Given the description of an element on the screen output the (x, y) to click on. 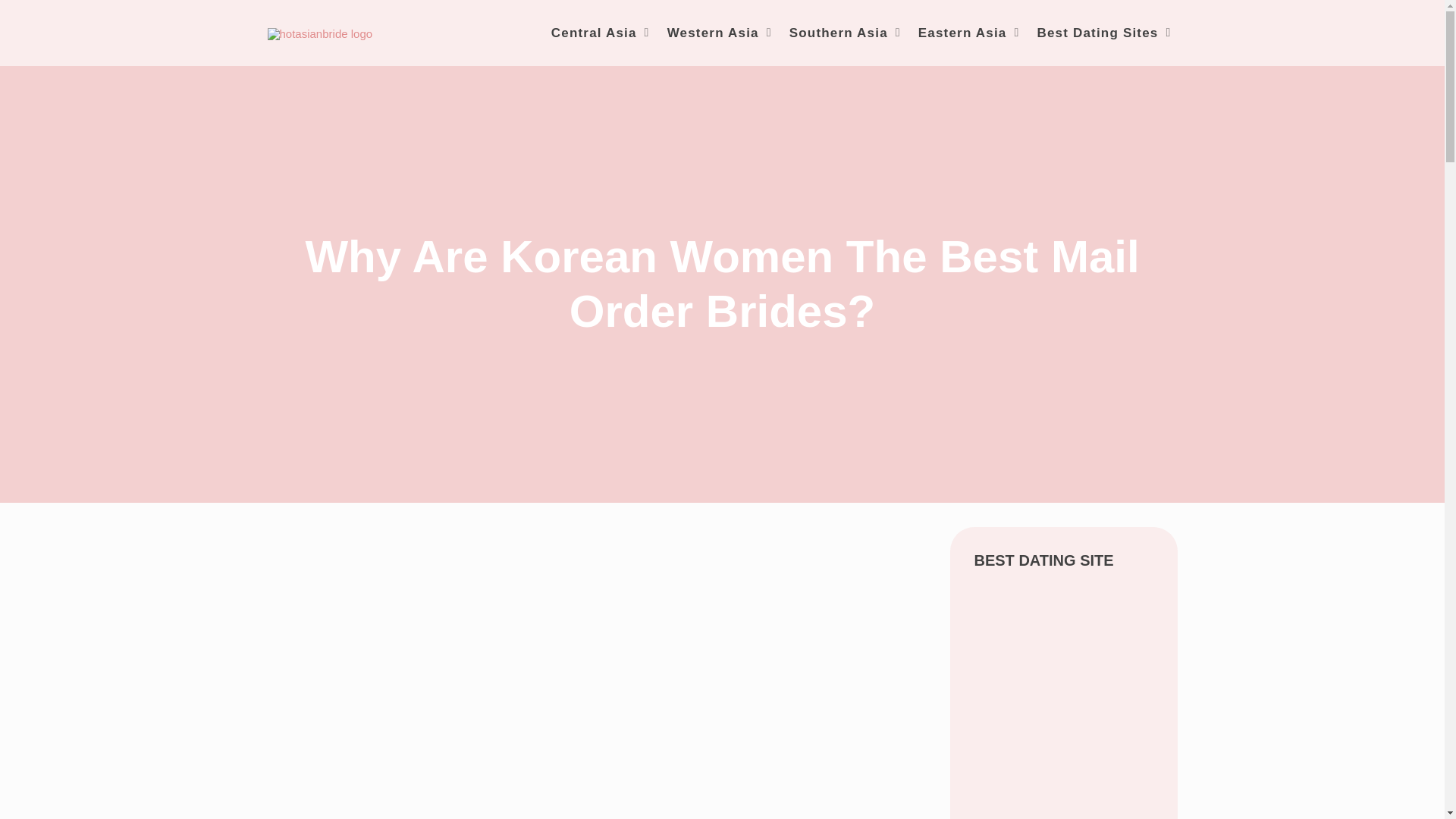
Eastern Asia (966, 32)
Central Asia (598, 32)
Southern Asia (842, 32)
Western Asia (716, 32)
